Given the description of an element on the screen output the (x, y) to click on. 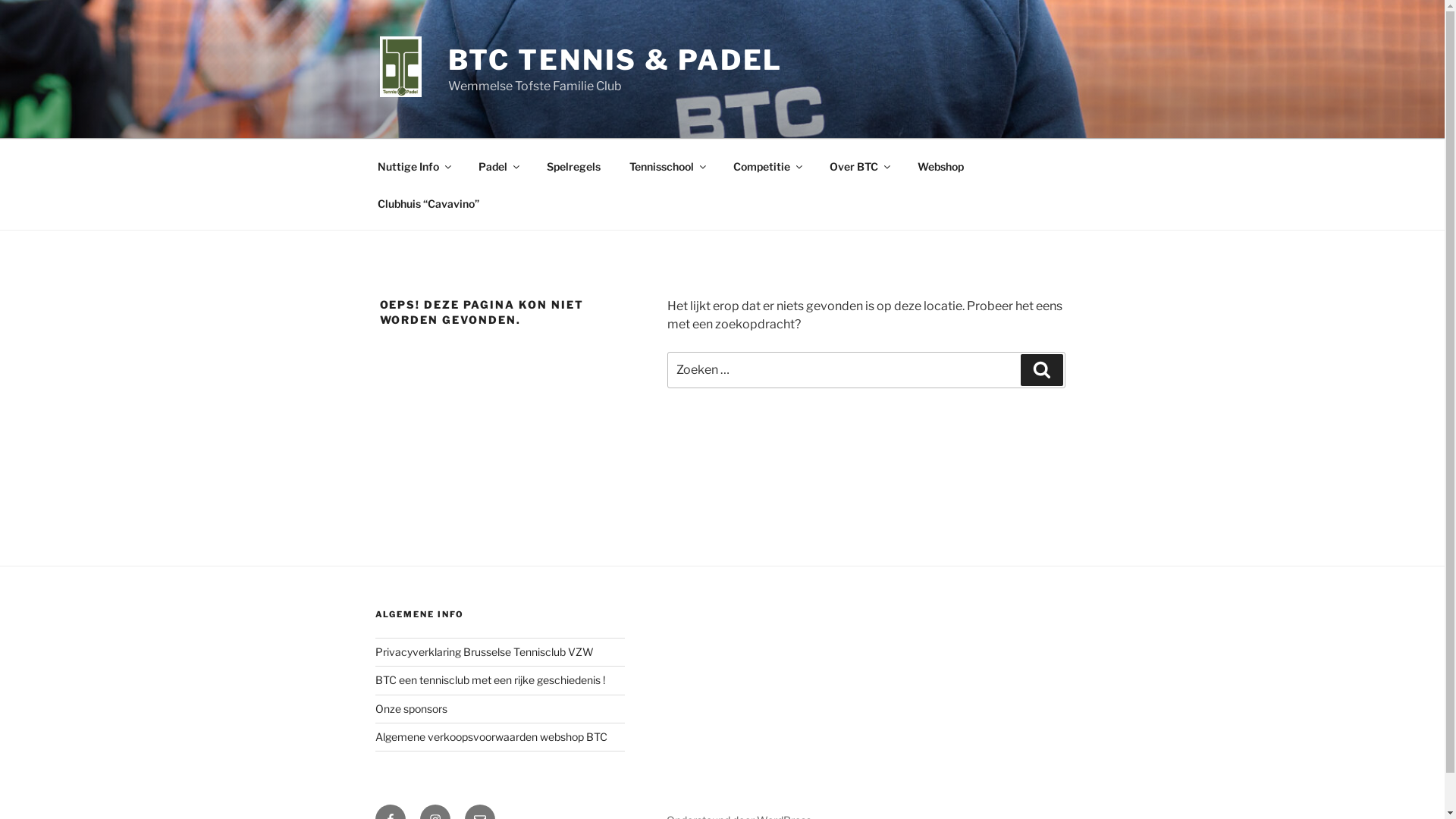
Zoeken Element type: text (1041, 369)
Nuttige Info Element type: text (413, 165)
Over BTC Element type: text (858, 165)
BTC een tennisclub met een rijke geschiedenis ! Element type: text (489, 679)
Privacyverklaring Brusselse Tennisclub VZW Element type: text (483, 651)
Competitie Element type: text (767, 165)
Padel Element type: text (498, 165)
Tennisschool Element type: text (666, 165)
Algemene verkoopsvoorwaarden webshop BTC Element type: text (490, 736)
Spelregels Element type: text (573, 165)
Webshop Element type: text (939, 165)
Onze sponsors Element type: text (410, 708)
BTC TENNIS & PADEL Element type: text (615, 59)
